Given the description of an element on the screen output the (x, y) to click on. 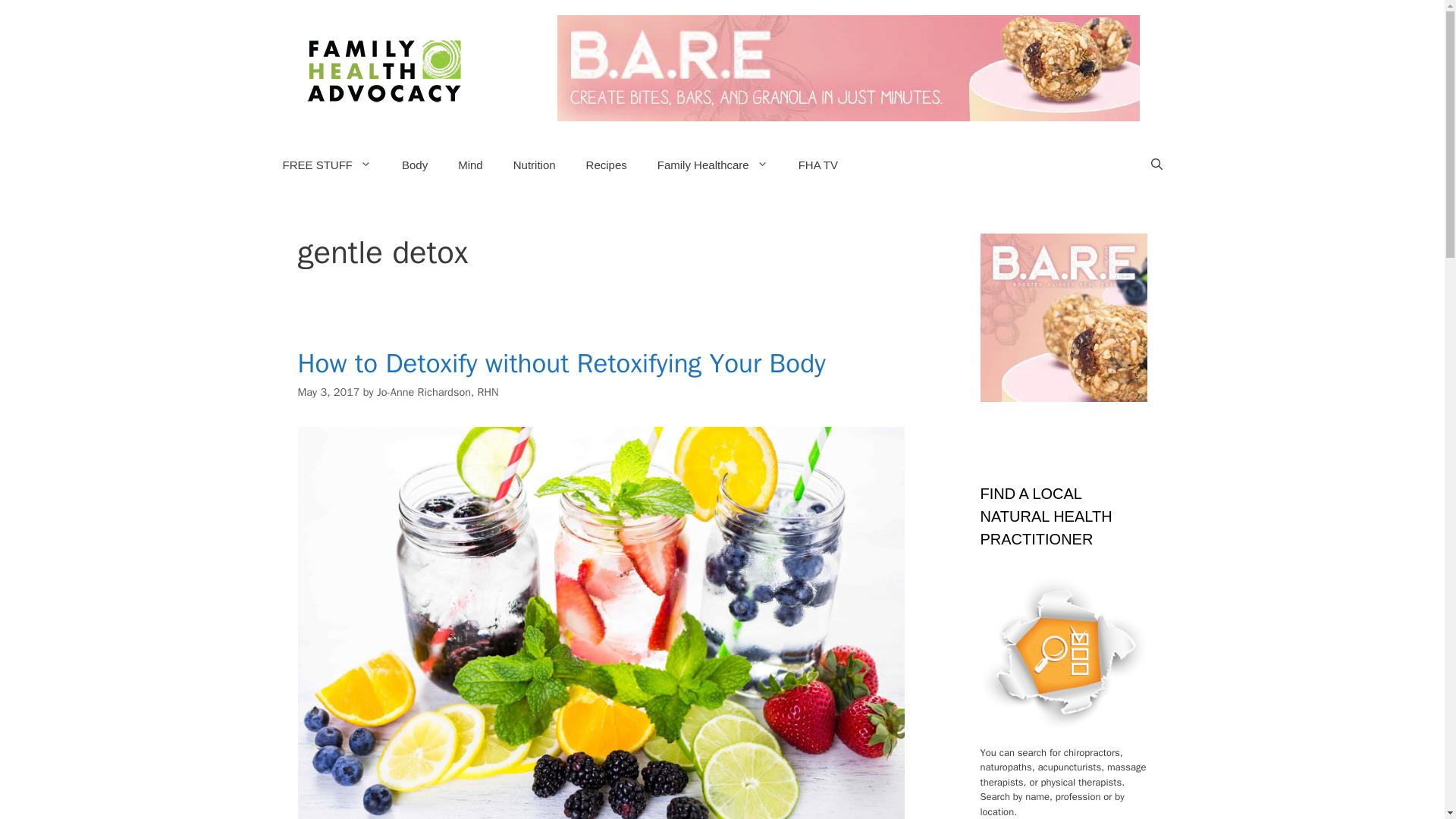
Mind (469, 165)
How to Detoxify without Retoxifying Your Body (561, 363)
Body (414, 165)
FHA TV (818, 165)
Jo-Anne Richardson, RHN (438, 391)
Nutrition (533, 165)
Recipes (606, 165)
View all posts by Jo-Anne Richardson, RHN (438, 391)
Family Healthcare (712, 165)
FREE STUFF (326, 165)
